Given the description of an element on the screen output the (x, y) to click on. 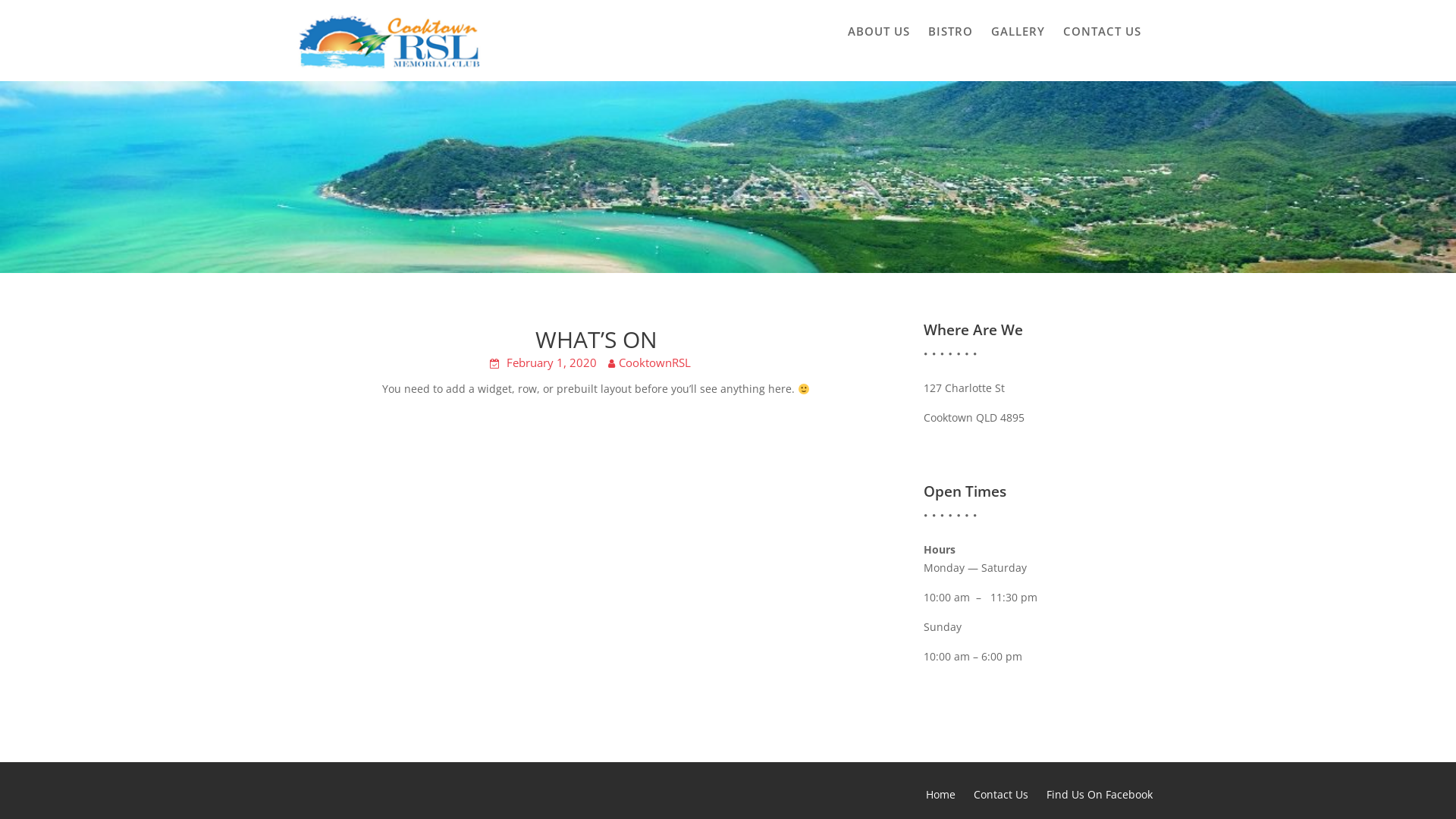
February 1, 2020 Element type: text (551, 362)
CooktownRSL Element type: text (654, 362)
Contact Us Element type: text (1000, 794)
CONTACT US Element type: text (1101, 30)
ABOUT US Element type: text (878, 30)
GALLERY Element type: text (1017, 30)
Find Us On Facebook Element type: text (1099, 794)
BISTRO Element type: text (950, 30)
Home Element type: text (940, 794)
